Given the description of an element on the screen output the (x, y) to click on. 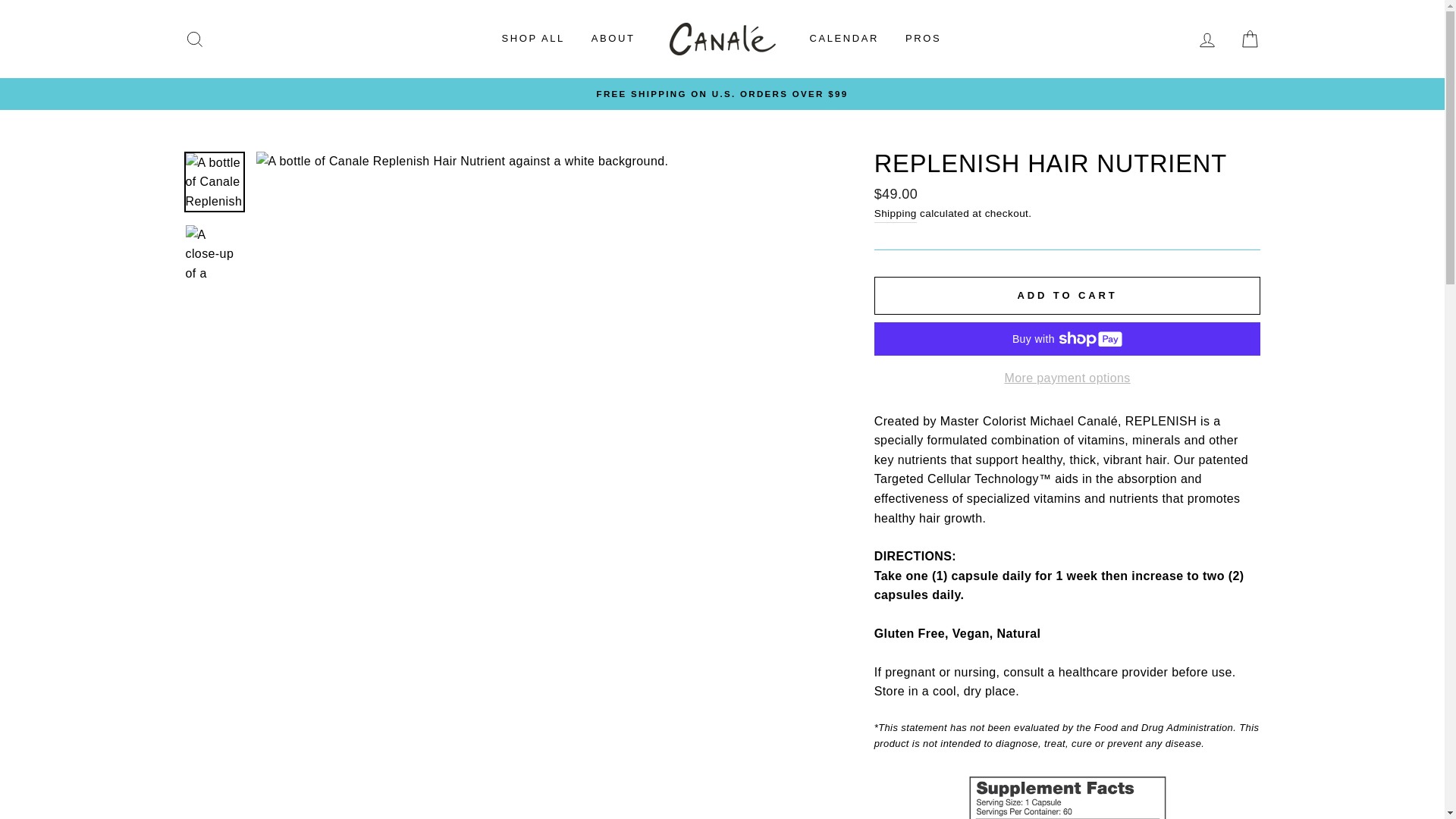
SHOP ALL (532, 39)
SEARCH (194, 38)
